Given the description of an element on the screen output the (x, y) to click on. 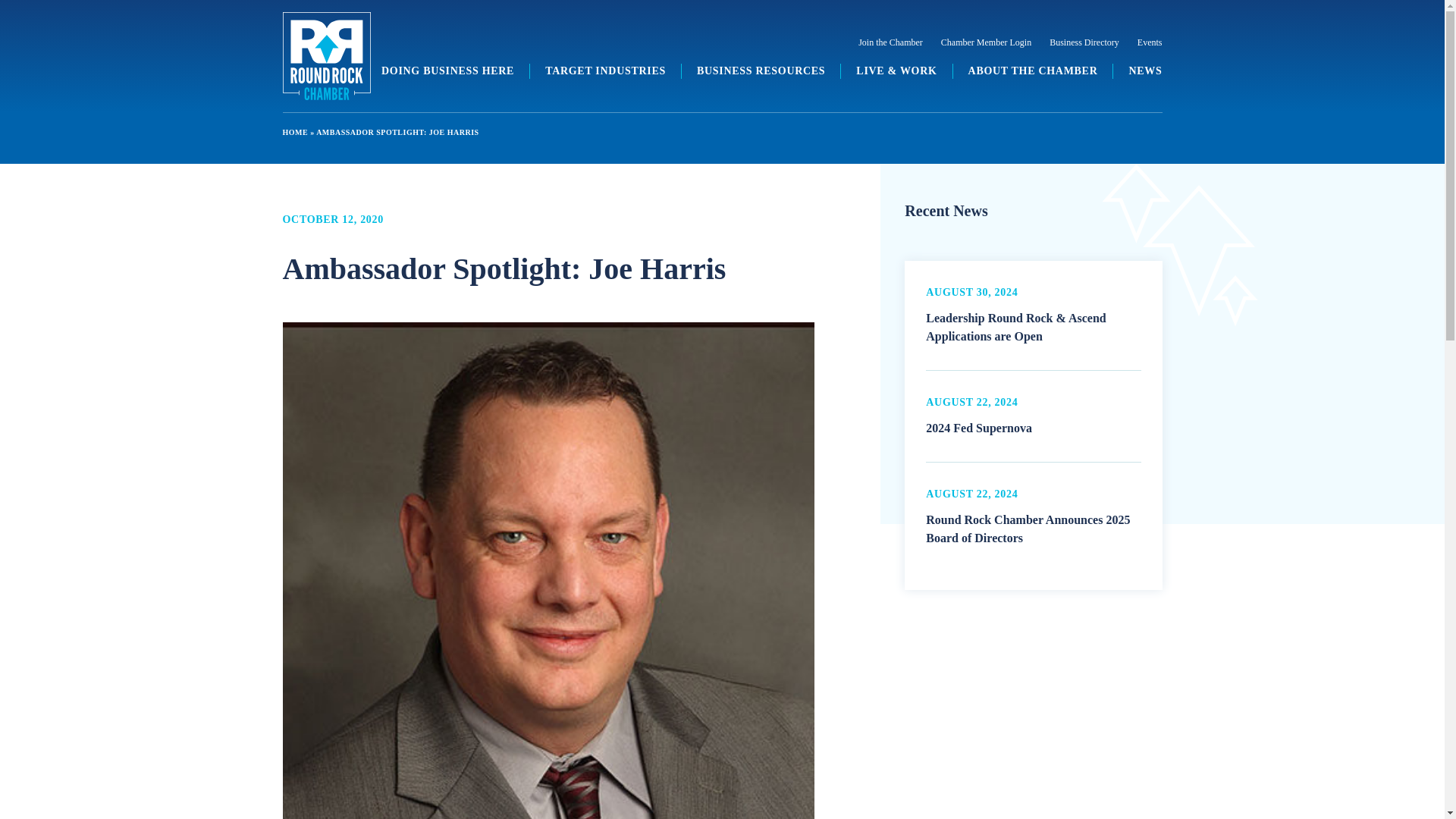
TARGET INDUSTRIES (604, 70)
ABOUT THE CHAMBER (1032, 70)
DOING BUSINESS HERE (447, 70)
Round Rock (325, 55)
BUSINESS RESOURCES (761, 70)
